Given the description of an element on the screen output the (x, y) to click on. 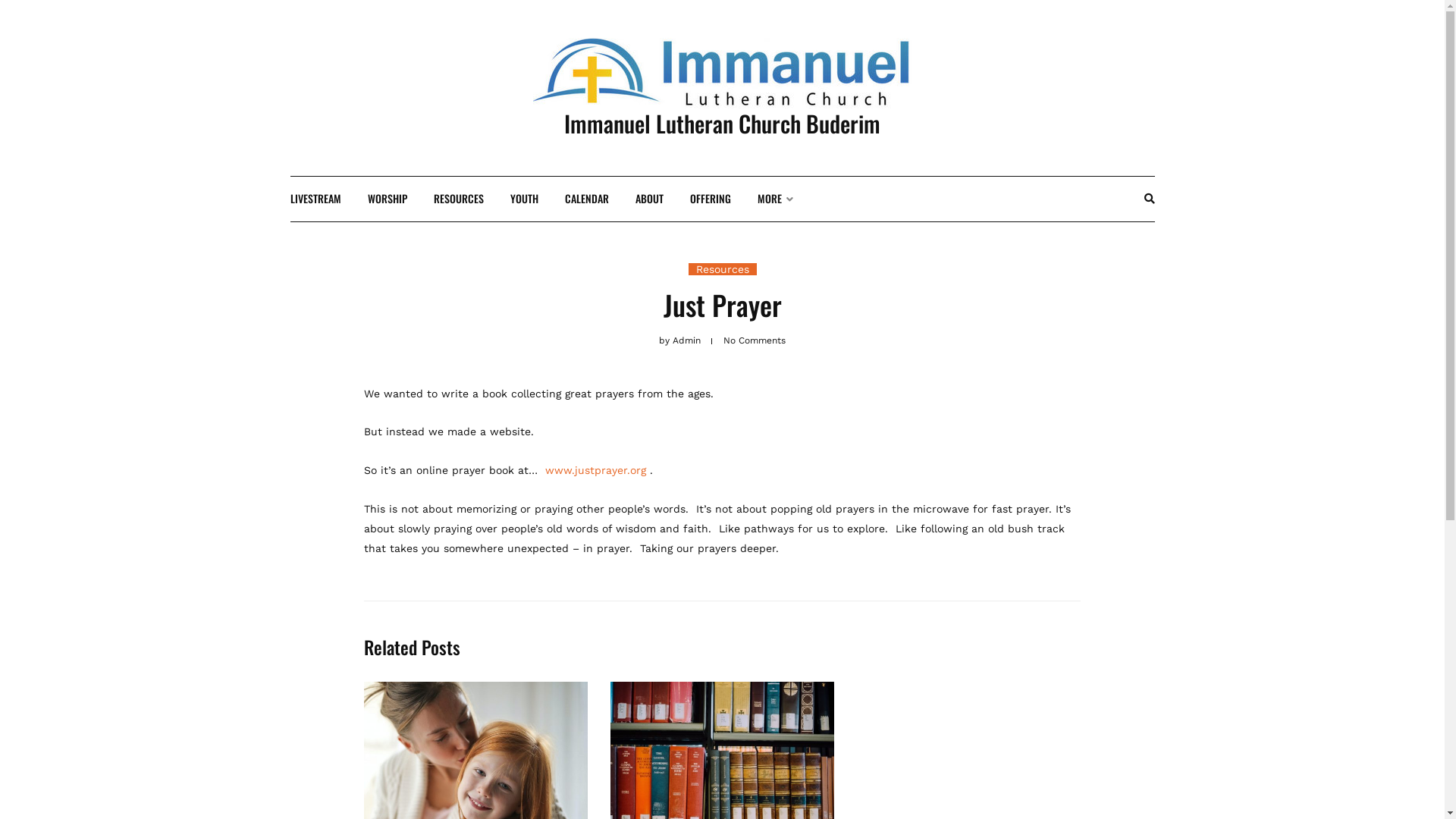
www.justprayer.org Element type: text (595, 470)
CALENDAR Element type: text (586, 198)
OFFERING Element type: text (710, 198)
YOUTH Element type: text (523, 198)
RESOURCES Element type: text (458, 198)
Resources Element type: text (722, 269)
ABOUT Element type: text (649, 198)
LIVESTREAM Element type: text (314, 198)
WORSHIP Element type: text (386, 198)
Immanuel Lutheran Church Buderim Element type: text (722, 123)
MORE Element type: text (774, 198)
